Given the description of an element on the screen output the (x, y) to click on. 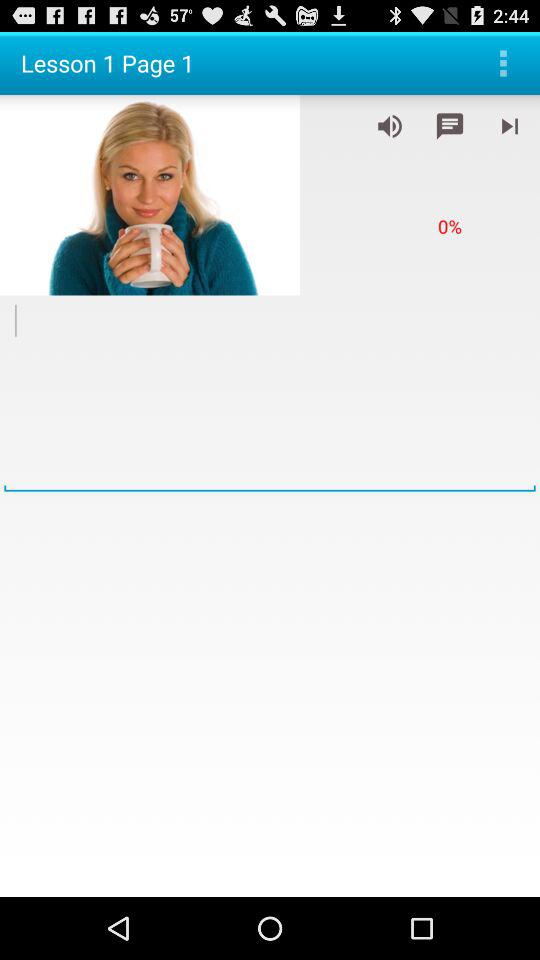
next (510, 125)
